Given the description of an element on the screen output the (x, y) to click on. 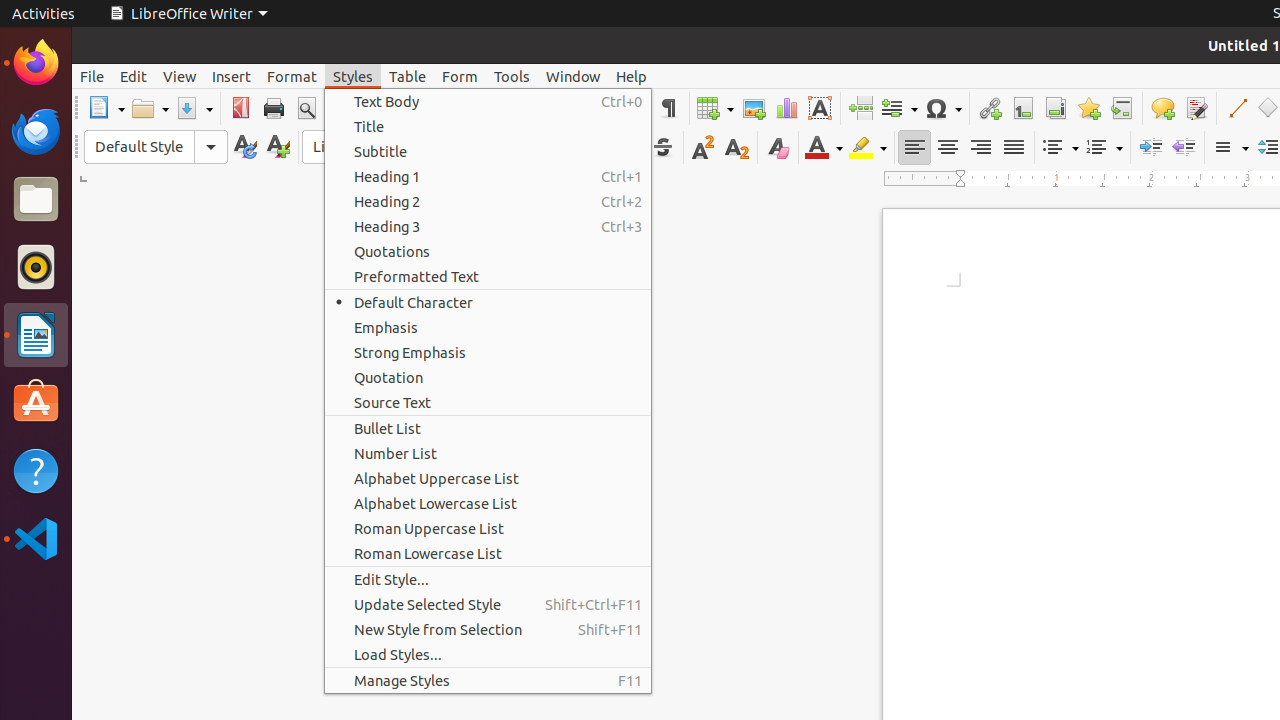
Image Element type: push-button (753, 108)
Subscript Element type: toggle-button (736, 147)
Update Element type: push-button (244, 147)
Files Element type: push-button (36, 199)
Footnote Element type: push-button (1022, 108)
